Given the description of an element on the screen output the (x, y) to click on. 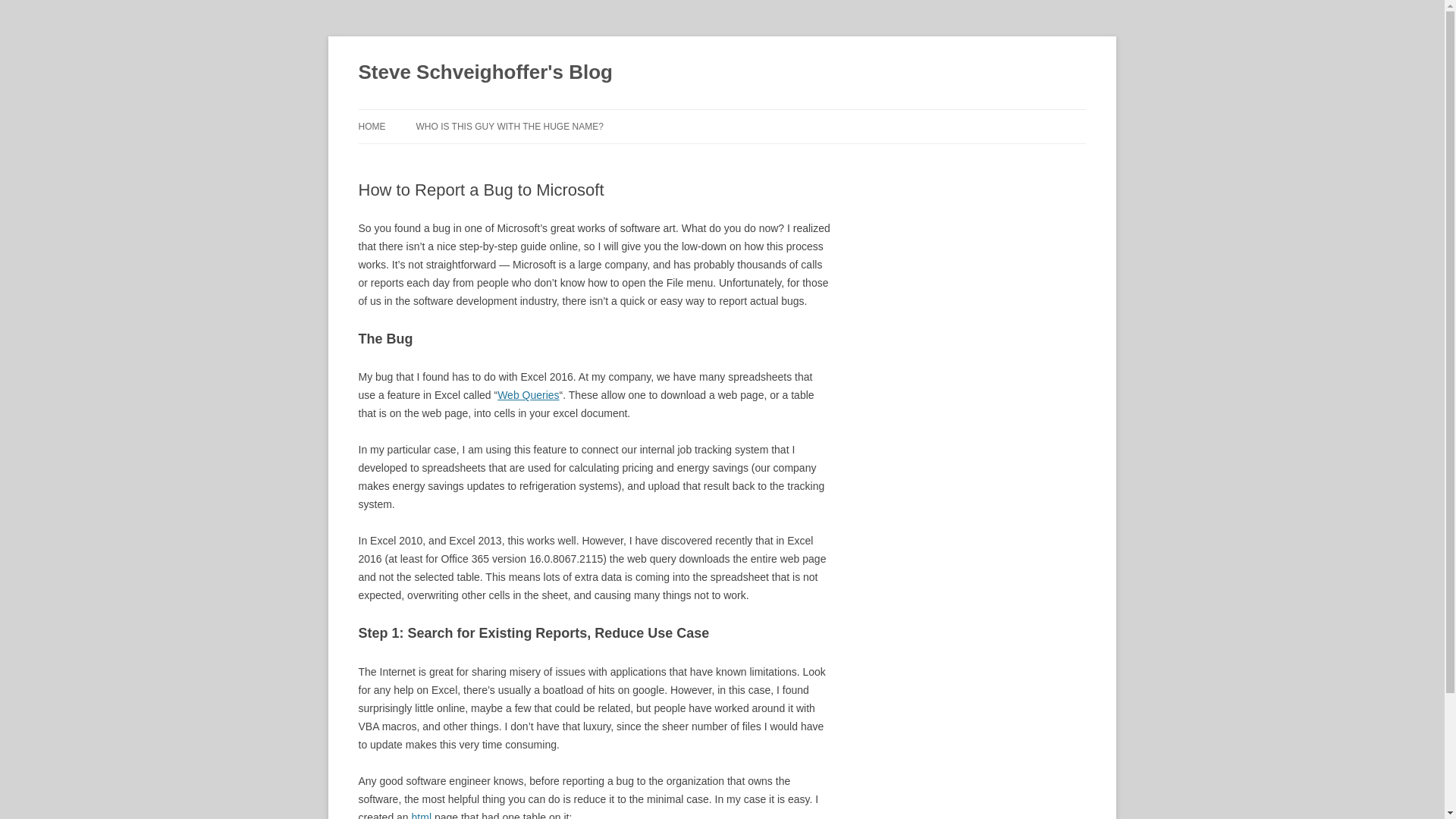
html (421, 815)
Steve Schveighoffer's Blog (484, 72)
Web Queries (528, 395)
Steve Schveighoffer's Blog (484, 72)
WHO IS THIS GUY WITH THE HUGE NAME? (508, 126)
